Given the description of an element on the screen output the (x, y) to click on. 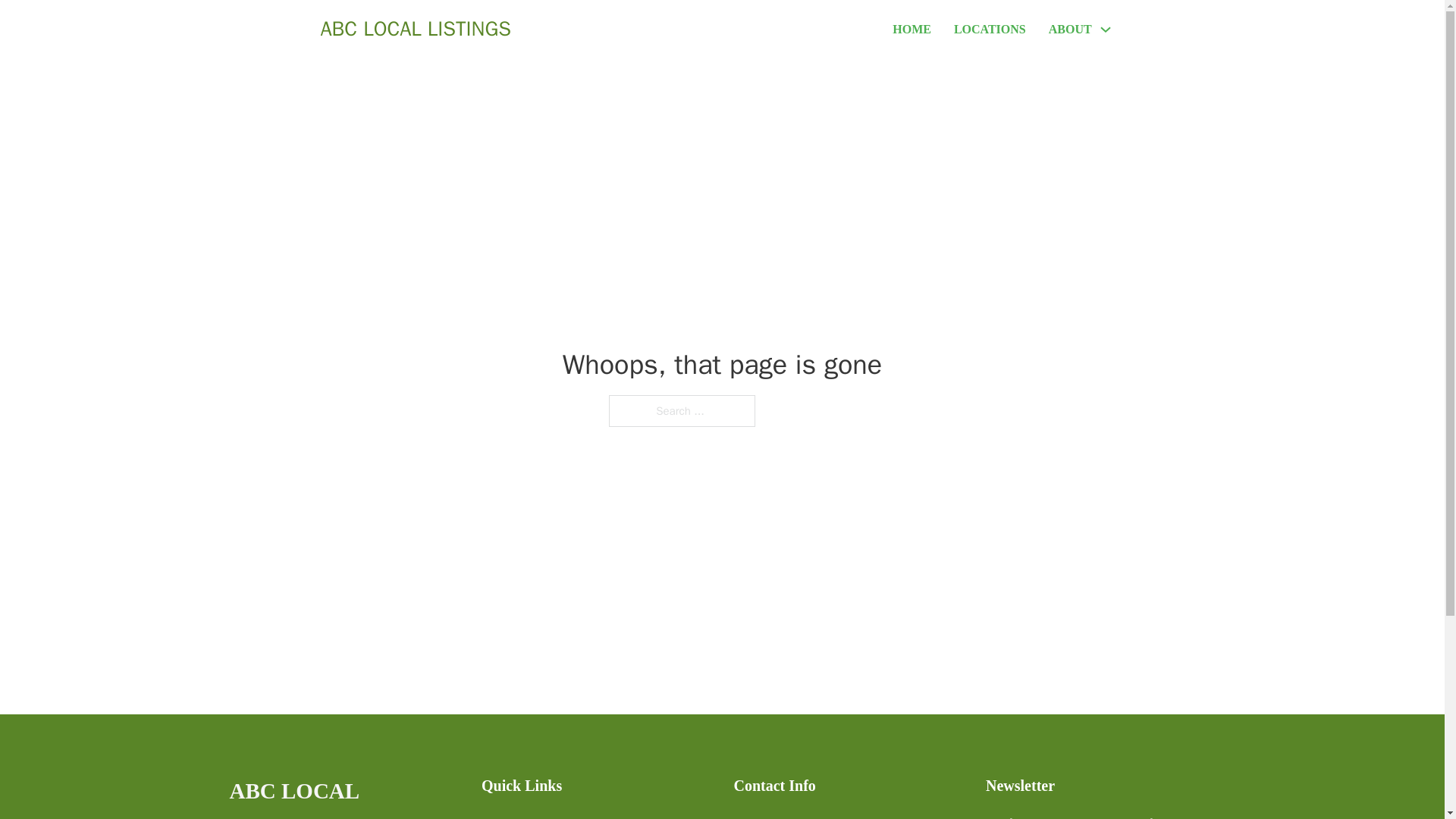
ABC LOCAL LISTINGS (343, 796)
HOME (911, 28)
Home (496, 816)
ABC LOCAL LISTINGS (415, 28)
LOCATIONS (989, 28)
